Given the description of an element on the screen output the (x, y) to click on. 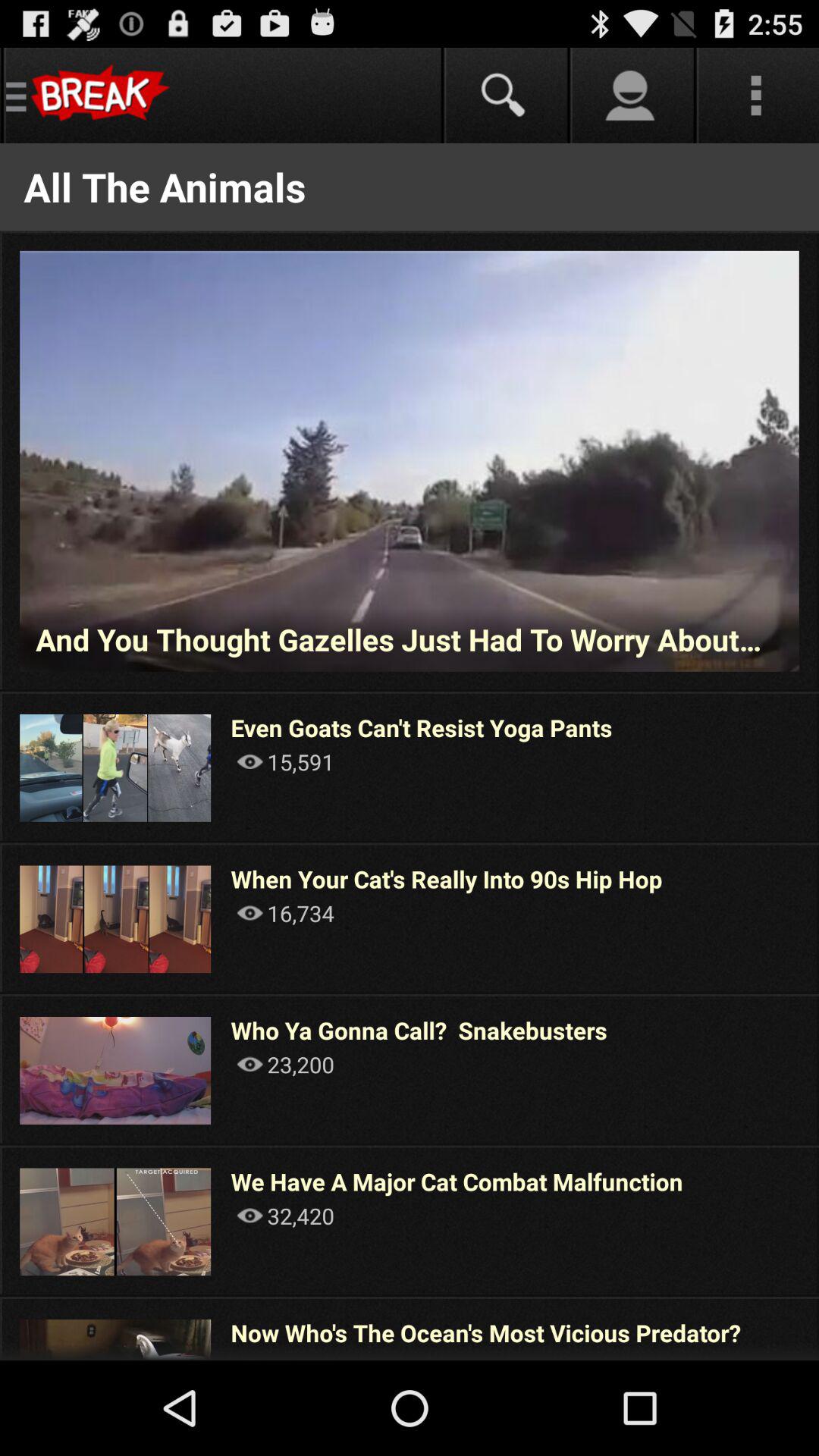
open the who ya gonna (418, 1030)
